Given the description of an element on the screen output the (x, y) to click on. 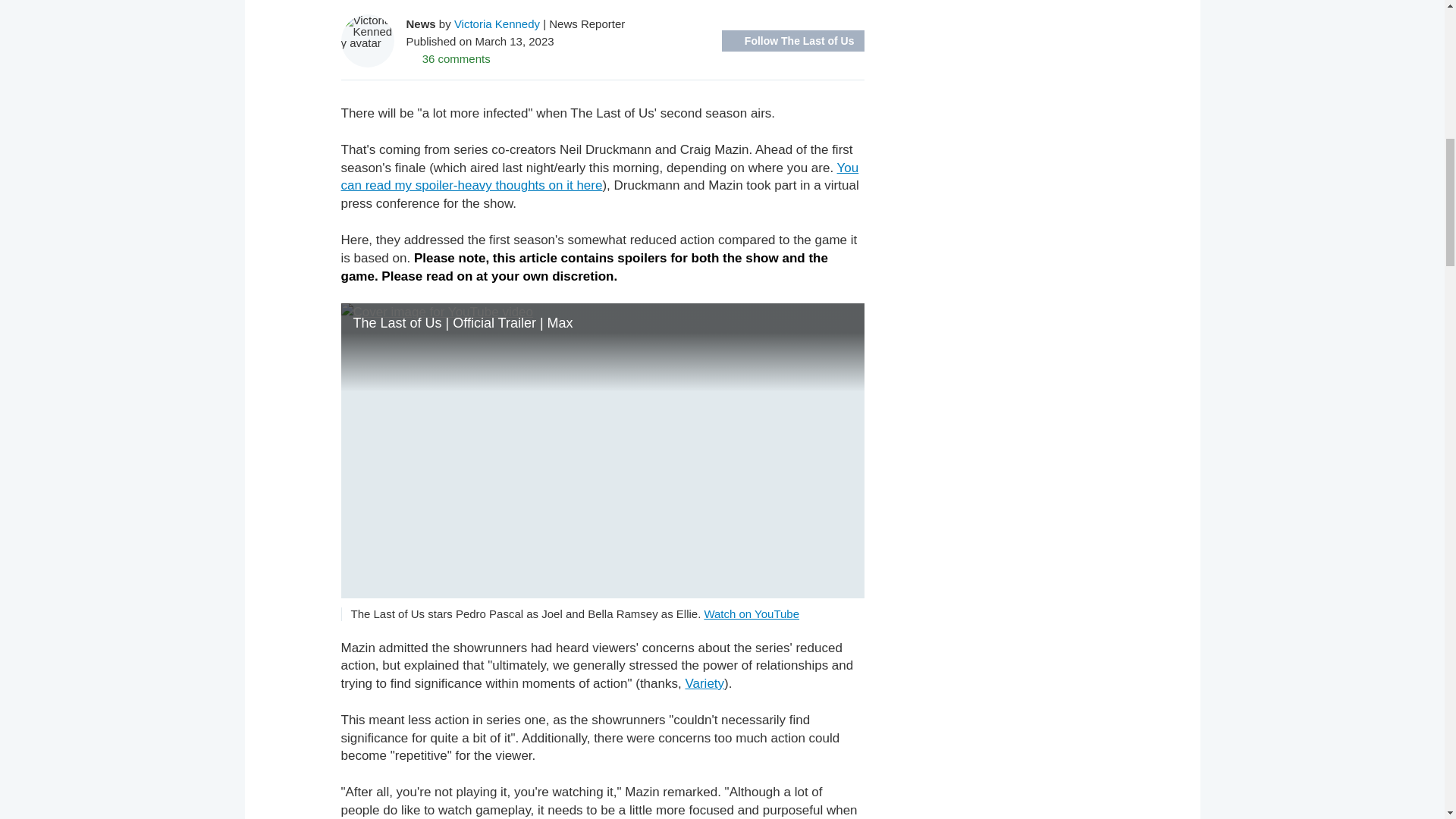
Victoria Kennedy (497, 22)
36 comments (448, 57)
Follow The Last of Us (793, 40)
Variety (703, 683)
You can read my spoiler-heavy thoughts on it here (599, 176)
Watch on YouTube (751, 612)
Follow The Last of Us (793, 40)
